Given the description of an element on the screen output the (x, y) to click on. 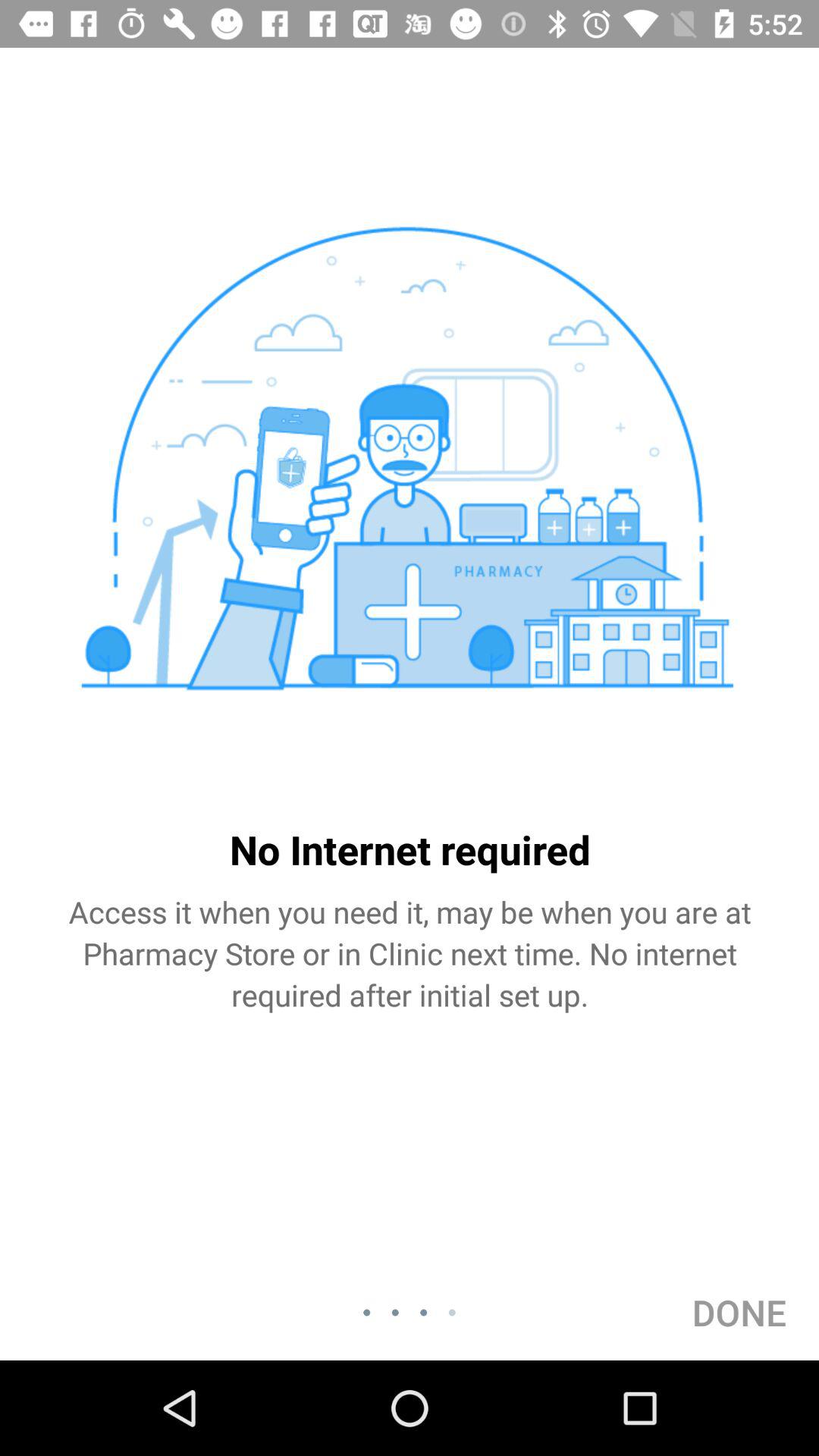
swipe until the done icon (739, 1312)
